Given the description of an element on the screen output the (x, y) to click on. 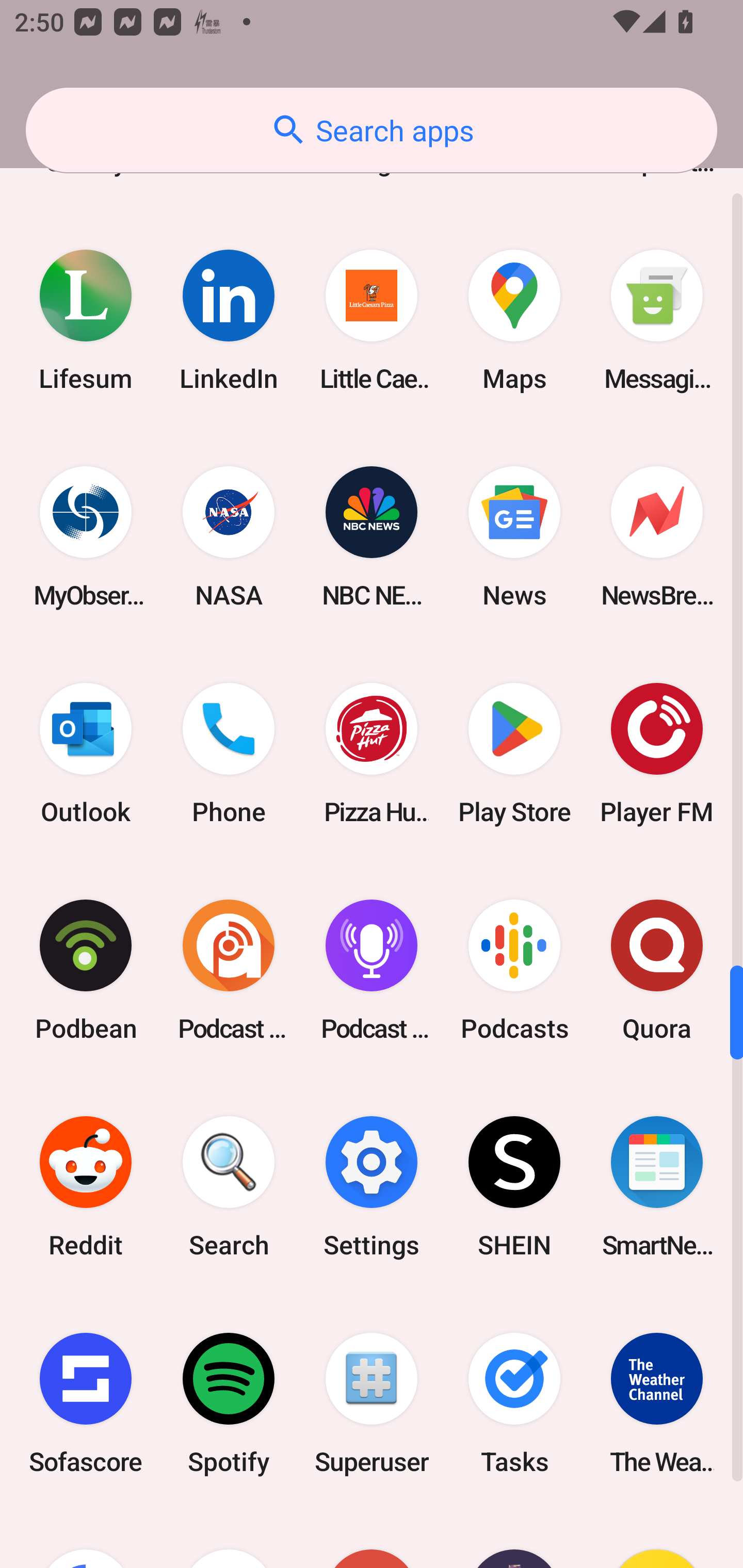
  Search apps (371, 130)
Lifesum (85, 319)
LinkedIn (228, 319)
Little Caesars Pizza (371, 319)
Maps (514, 319)
Messaging (656, 319)
MyObservatory (85, 537)
NASA (228, 537)
NBC NEWS (371, 537)
News (514, 537)
NewsBreak (656, 537)
Outlook (85, 754)
Phone (228, 754)
Pizza Hut HK & Macau (371, 754)
Play Store (514, 754)
Player FM (656, 754)
Podbean (85, 970)
Podcast Addict (228, 970)
Podcast Player (371, 970)
Podcasts (514, 970)
Quora (656, 970)
Reddit (85, 1186)
Search (228, 1186)
Settings (371, 1186)
SHEIN (514, 1186)
SmartNews (656, 1186)
Sofascore (85, 1403)
Spotify (228, 1403)
Superuser (371, 1403)
Tasks (514, 1403)
The Weather Channel (656, 1403)
